Given the description of an element on the screen output the (x, y) to click on. 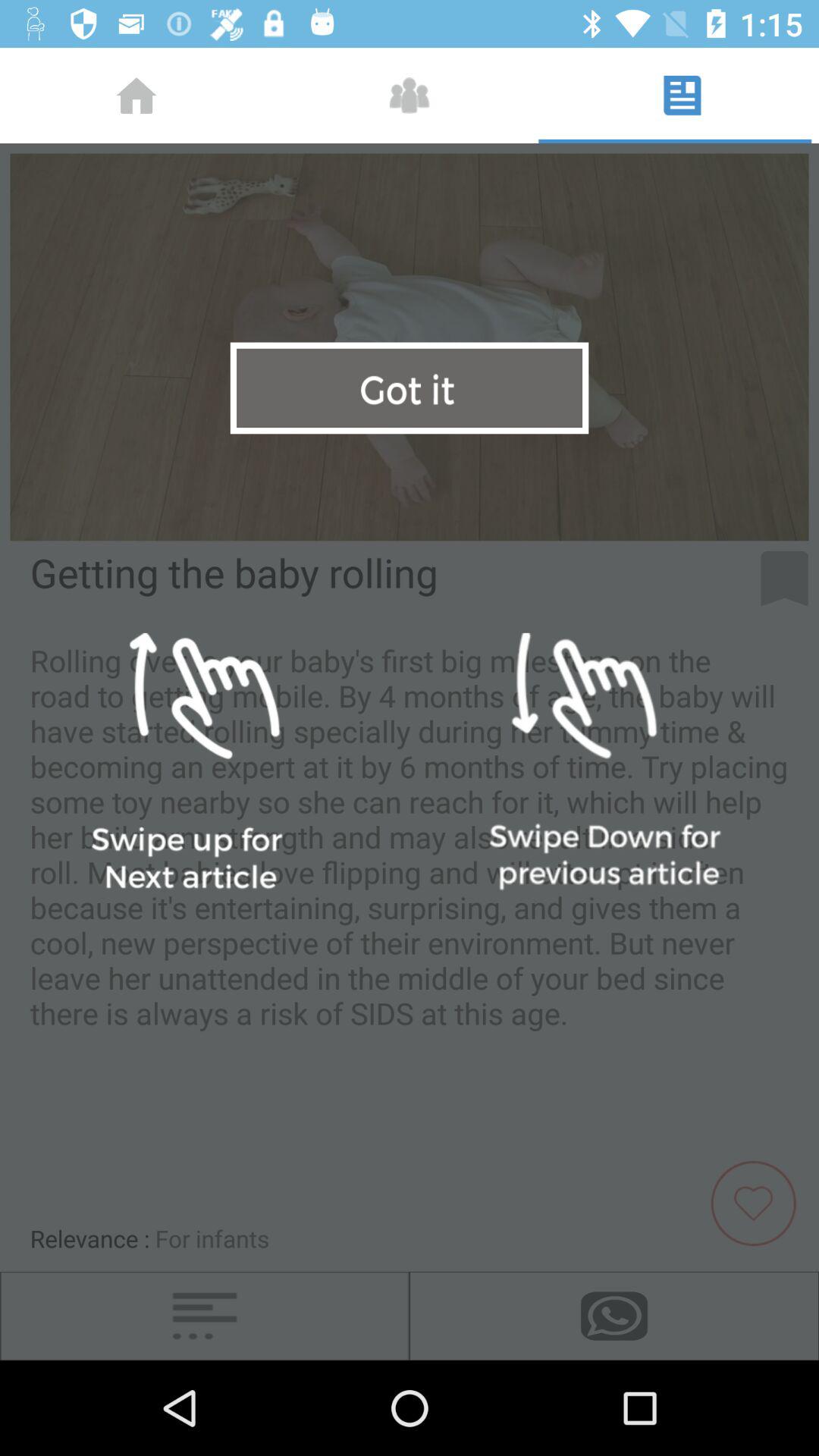
flag for later (784, 578)
